Given the description of an element on the screen output the (x, y) to click on. 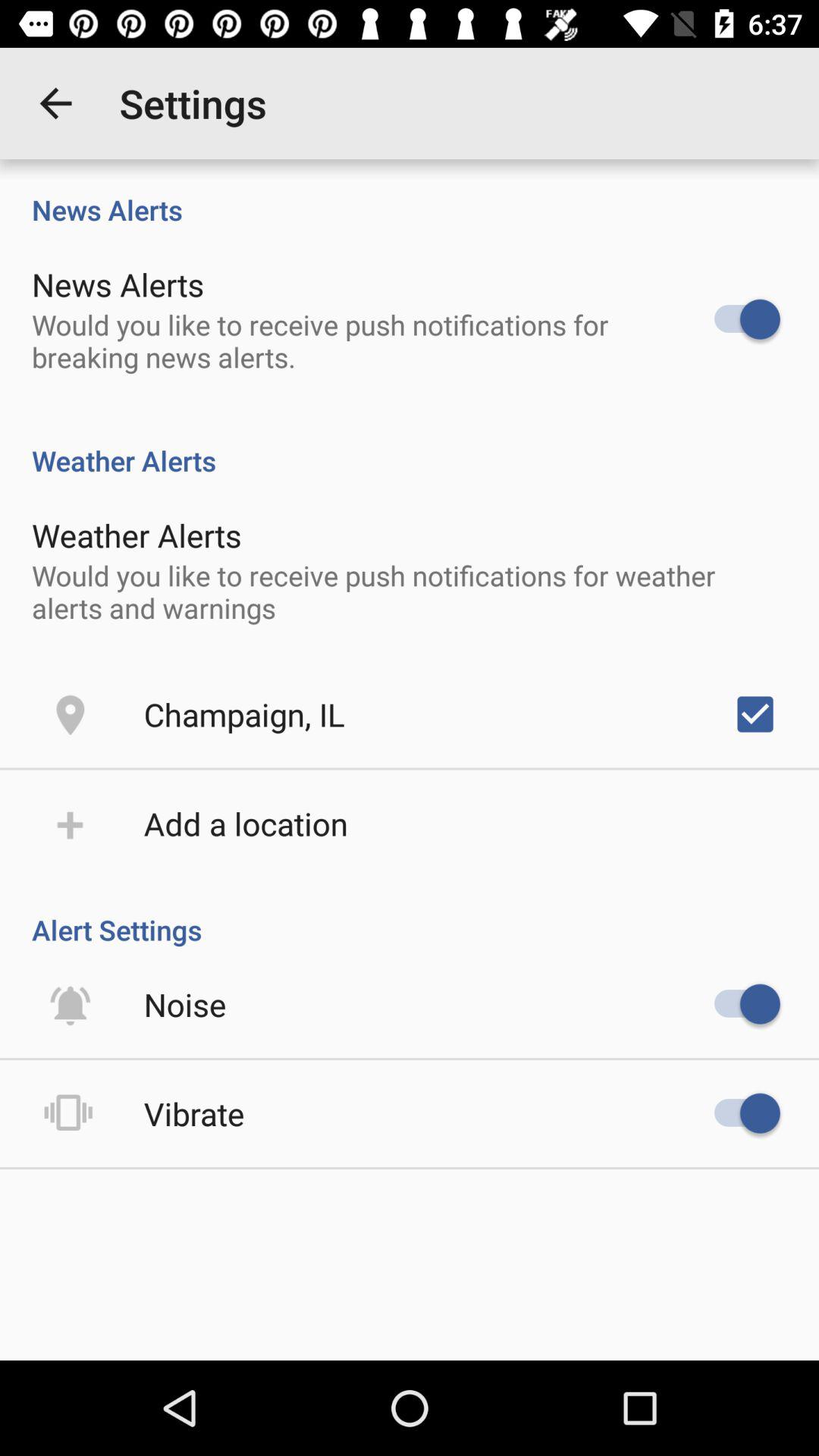
choose icon to the right of the champaign, il (755, 714)
